Given the description of an element on the screen output the (x, y) to click on. 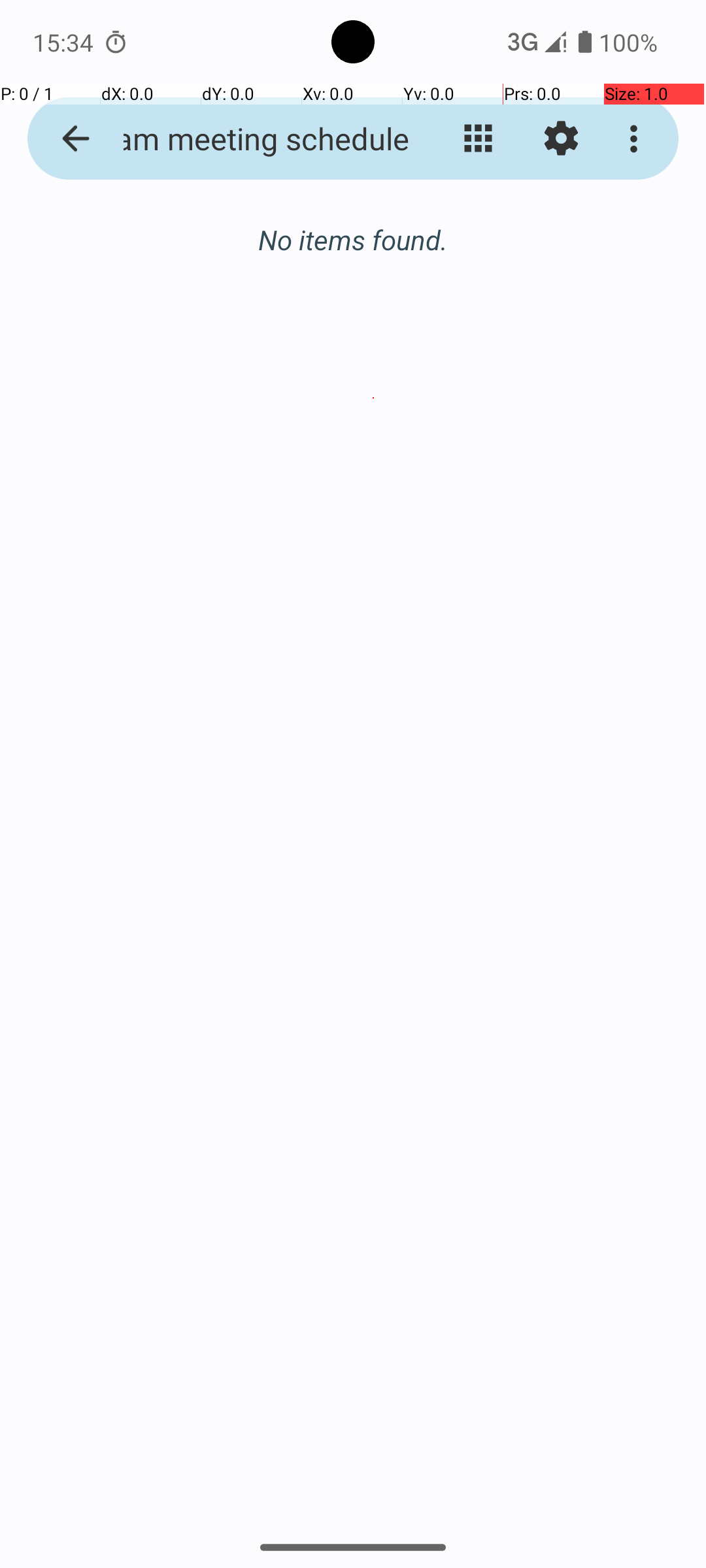
Team meeting schedule Element type: android.widget.EditText (252, 138)
October 15 (Sun) Element type: android.widget.TextView (352, 253)
Catch up on Annual Report Element type: android.widget.TextView (373, 321)
05:00 - 06:00 Element type: android.widget.TextView (137, 362)
We will plan annual budget. Element type: android.widget.TextView (373, 397)
